Given the description of an element on the screen output the (x, y) to click on. 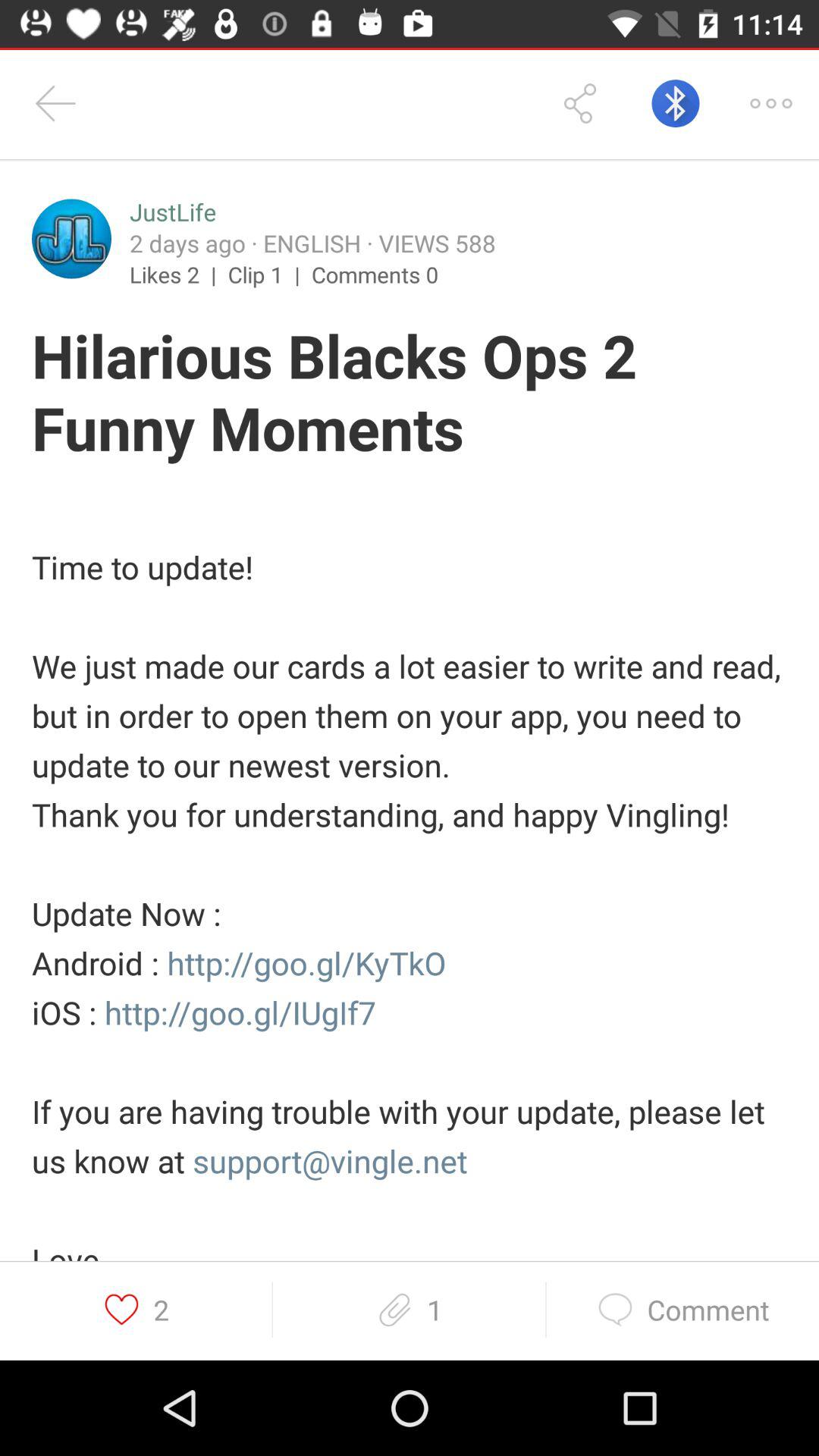
jump until the comments 0 item (374, 274)
